Given the description of an element on the screen output the (x, y) to click on. 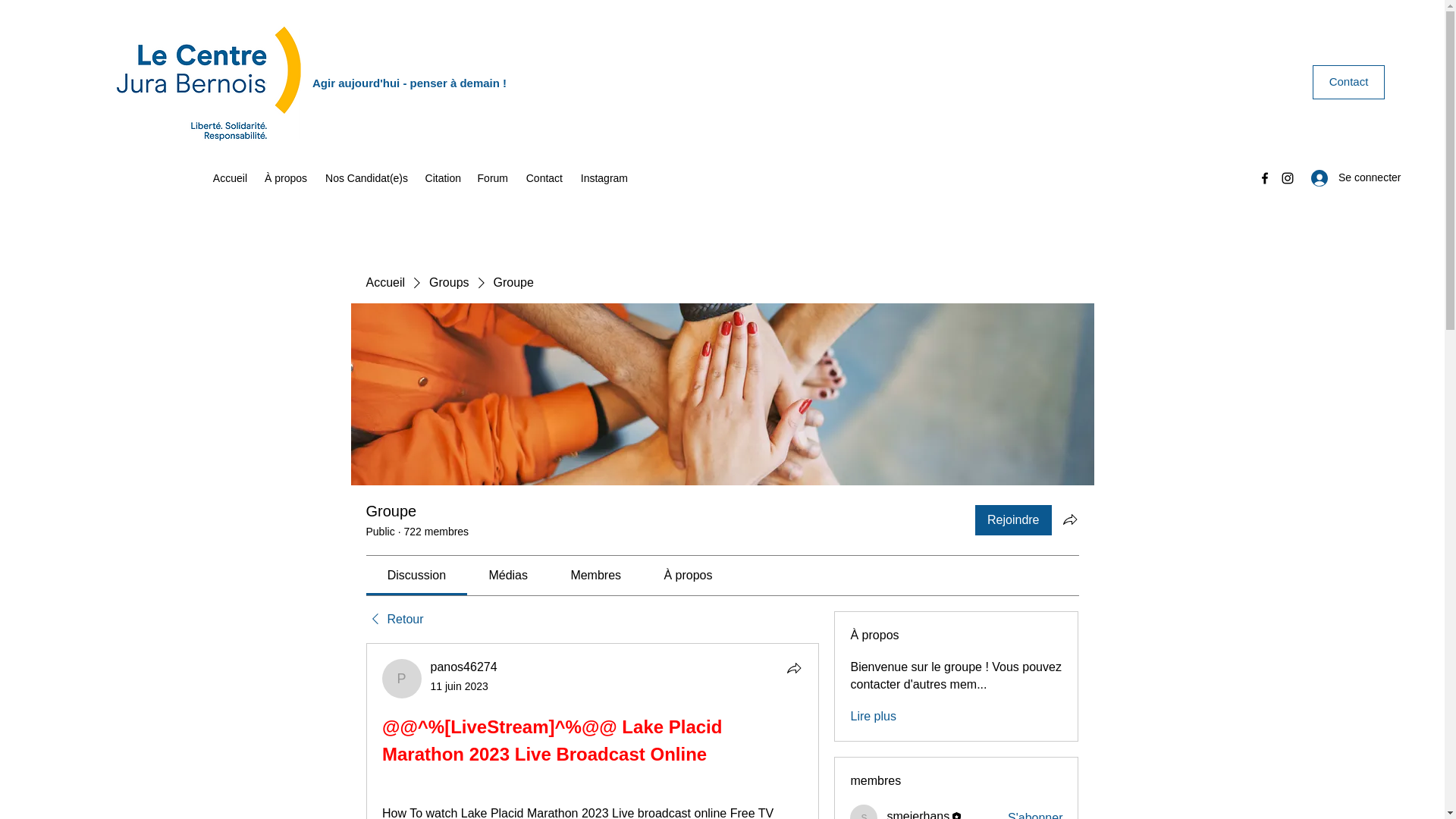
panos46274 (463, 666)
smeierhans (863, 811)
Citation (441, 178)
Contact (542, 178)
Contact (1348, 82)
smeierhans (917, 814)
panos46274 (401, 678)
Accueil (384, 282)
Instagram (602, 178)
Accueil (228, 178)
Retour (394, 619)
Rejoindre (1013, 520)
Groups (448, 282)
11 juin 2023 (458, 686)
Forum (491, 178)
